Given the description of an element on the screen output the (x, y) to click on. 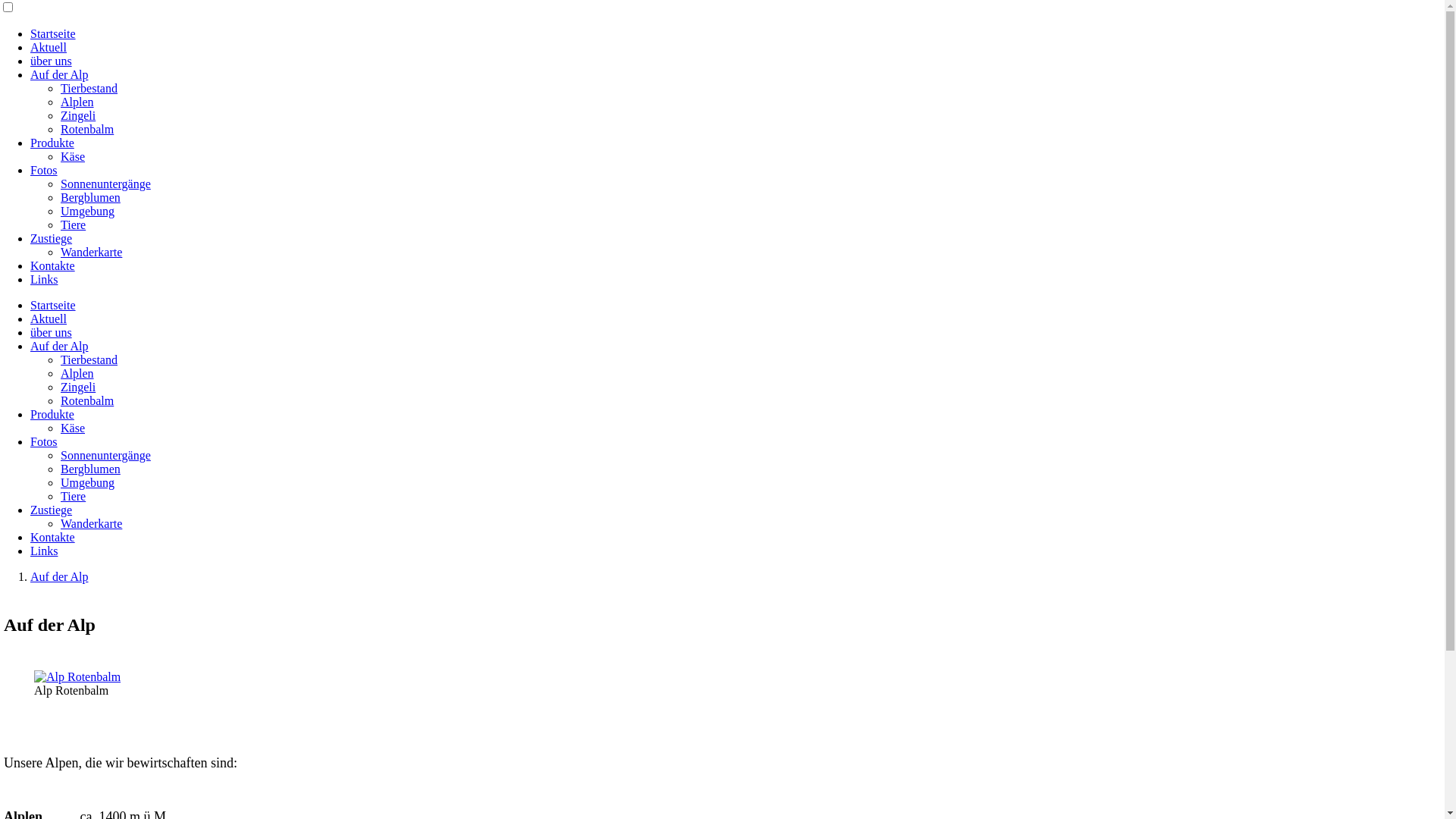
Umgebung Element type: text (87, 210)
Alplen Element type: text (77, 101)
Zustiege Element type: text (51, 509)
Fotos Element type: text (43, 441)
Kontakte Element type: text (52, 536)
Kontakte Element type: text (52, 265)
Auf der Alp Element type: text (58, 74)
Rotenbalm Element type: text (86, 128)
Wanderkarte Element type: text (91, 523)
Startseite Element type: text (52, 304)
Produkte Element type: text (52, 142)
Zustiege Element type: text (51, 238)
Alplen Element type: text (77, 373)
Aktuell Element type: text (48, 46)
Auf der Alp Element type: text (58, 576)
Tiere Element type: text (72, 224)
Tierbestand Element type: text (88, 359)
Startseite Element type: text (52, 33)
Rotenbalm Element type: text (86, 400)
Fotos Element type: text (43, 169)
Links Element type: text (43, 279)
Aktuell Element type: text (48, 318)
Tierbestand Element type: text (88, 87)
Zingeli Element type: text (77, 386)
Umgebung Element type: text (87, 482)
Bergblumen Element type: text (90, 468)
Auf der Alp Element type: text (58, 345)
Wanderkarte Element type: text (91, 251)
Zingeli Element type: text (77, 115)
Links Element type: text (43, 550)
Tiere Element type: text (72, 495)
Produkte Element type: text (52, 413)
Bergblumen Element type: text (90, 197)
